Given the description of an element on the screen output the (x, y) to click on. 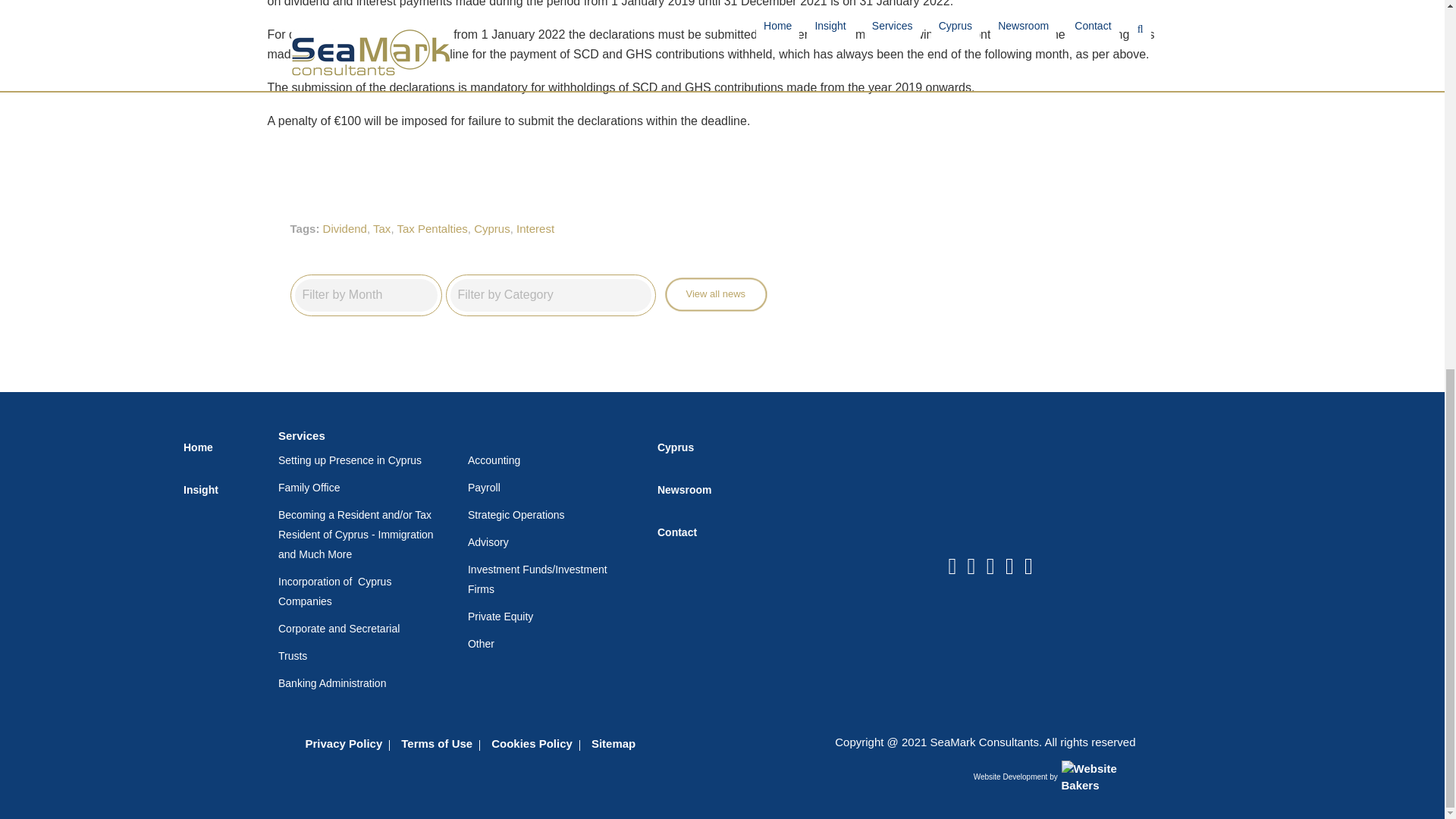
Tax Pentalties (431, 228)
Incorporation of  Cyprus Companies  (361, 590)
Dividend (344, 228)
Cyprus (492, 228)
Home (219, 447)
Family Office (361, 487)
Insight (219, 489)
Setting up Presence in Cyprus (361, 460)
Tax (381, 228)
Banking Administration (361, 682)
